Given the description of an element on the screen output the (x, y) to click on. 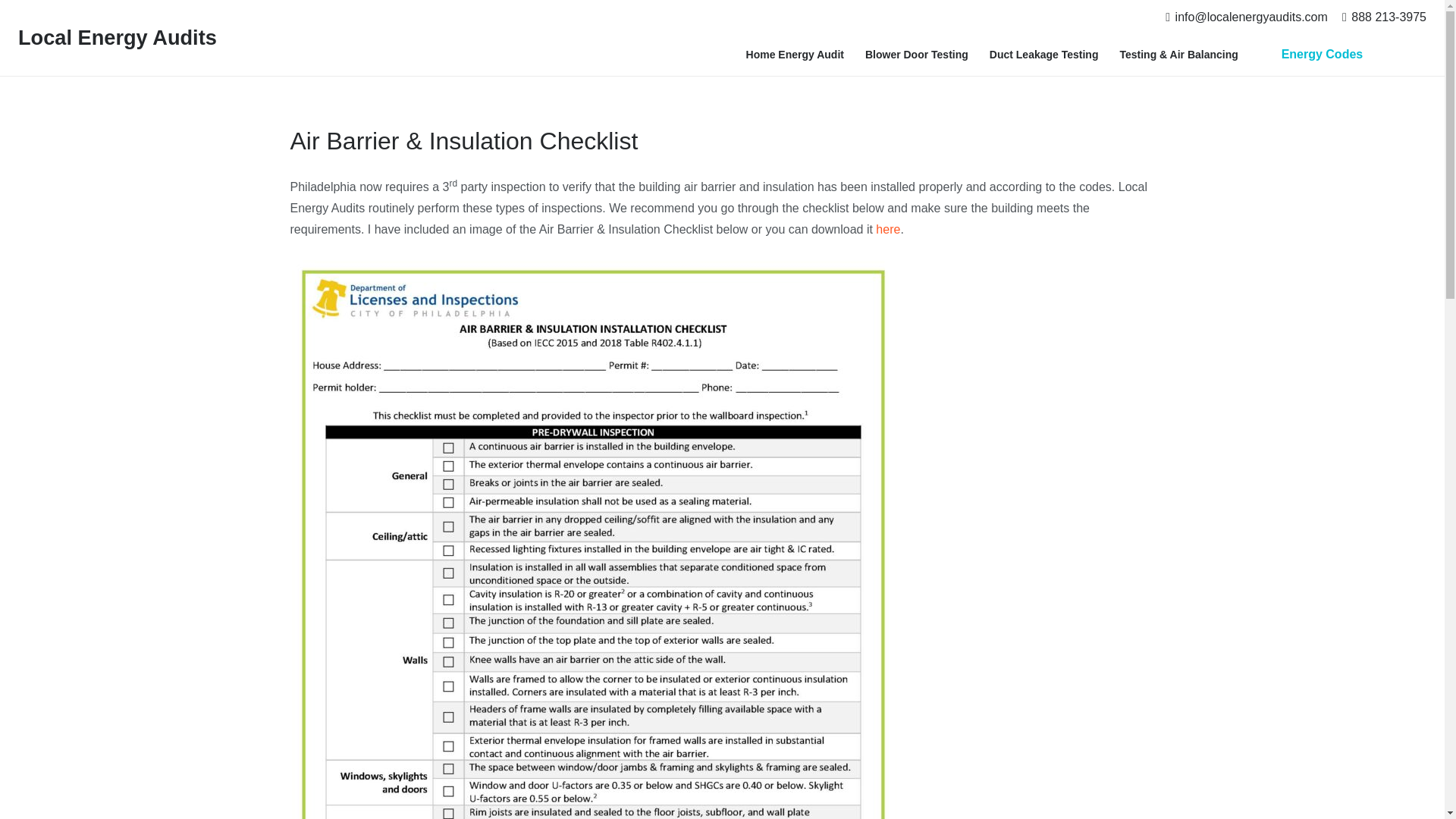
Energy Codes (1321, 54)
here (887, 228)
888 213-3975 (1384, 16)
Blower Door Testing (916, 54)
Home Energy Audit (794, 54)
Local Energy Audits (116, 37)
Duct Leakage Testing (1043, 54)
